Given the description of an element on the screen output the (x, y) to click on. 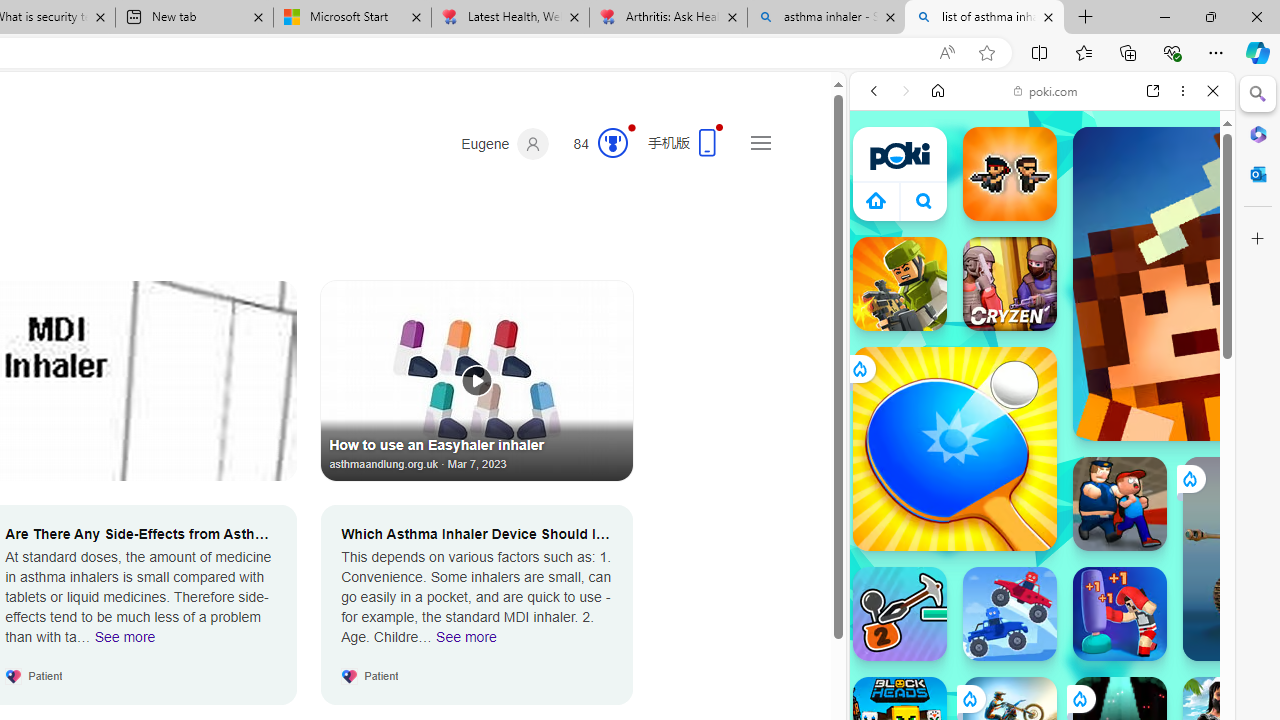
Class: b_serphb (1190, 229)
Search Filter, WEB (882, 228)
Class: rCs5cyEiqiTpYvt_VBCR (1079, 698)
Io Games (1042, 616)
Search Filter, VIDEOS (1006, 228)
AutomationID: serp_medal_svg (612, 142)
How to use an Easyhaler inhaler (477, 380)
Car Games (1042, 469)
Cryzen.io Cryzen.io (1009, 283)
